Given the description of an element on the screen output the (x, y) to click on. 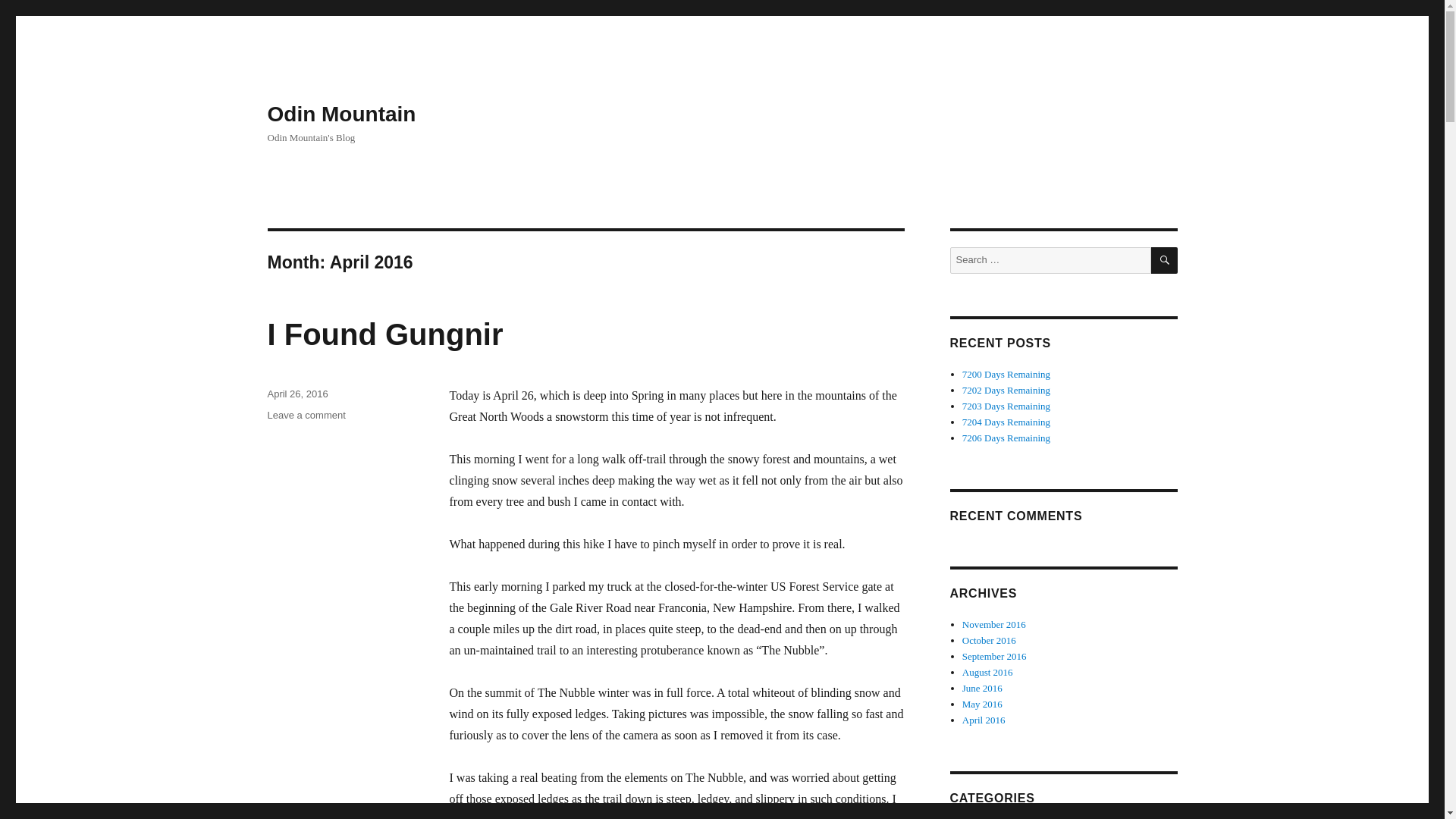
October 2016 (989, 640)
April 26, 2016 (305, 414)
7202 Days Remaining (296, 393)
Search for: (1005, 389)
April 2016 (1049, 260)
SEARCH (984, 719)
June 2016 (1164, 260)
I Found Gungnir (982, 687)
7204 Days Remaining (384, 334)
August 2016 (1005, 421)
November 2016 (987, 672)
September 2016 (994, 624)
May 2016 (994, 655)
7203 Days Remaining (982, 704)
